Given the description of an element on the screen output the (x, y) to click on. 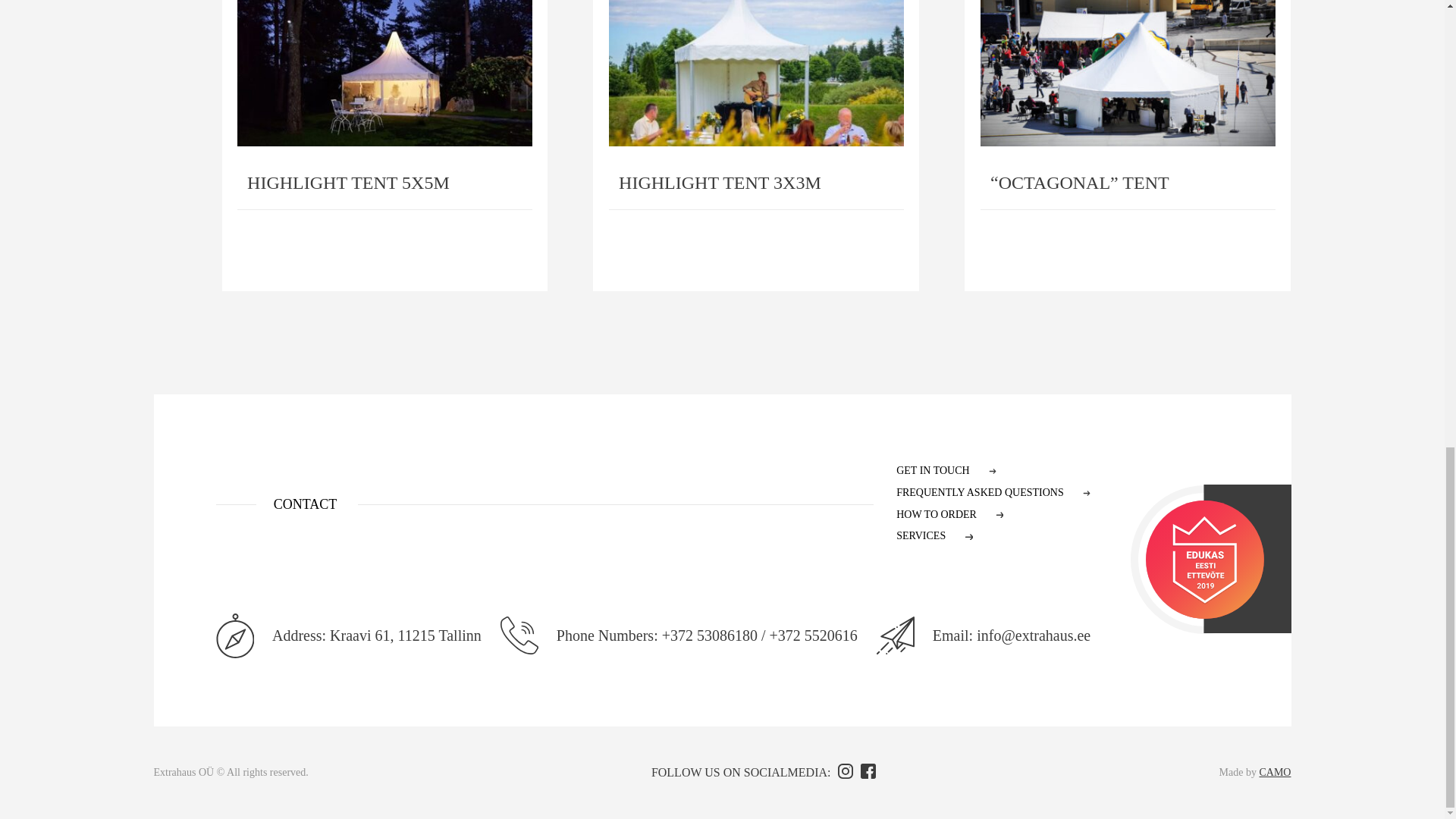
GET IN TOUCH (993, 471)
HIGHLIGHT TENT 3X3M (755, 145)
HIGHLIGHT TENT 5X5M (384, 145)
SERVICES (993, 536)
CAMO (1274, 772)
FREQUENTLY ASKED QUESTIONS (993, 493)
HOW TO ORDER (993, 515)
